Given the description of an element on the screen output the (x, y) to click on. 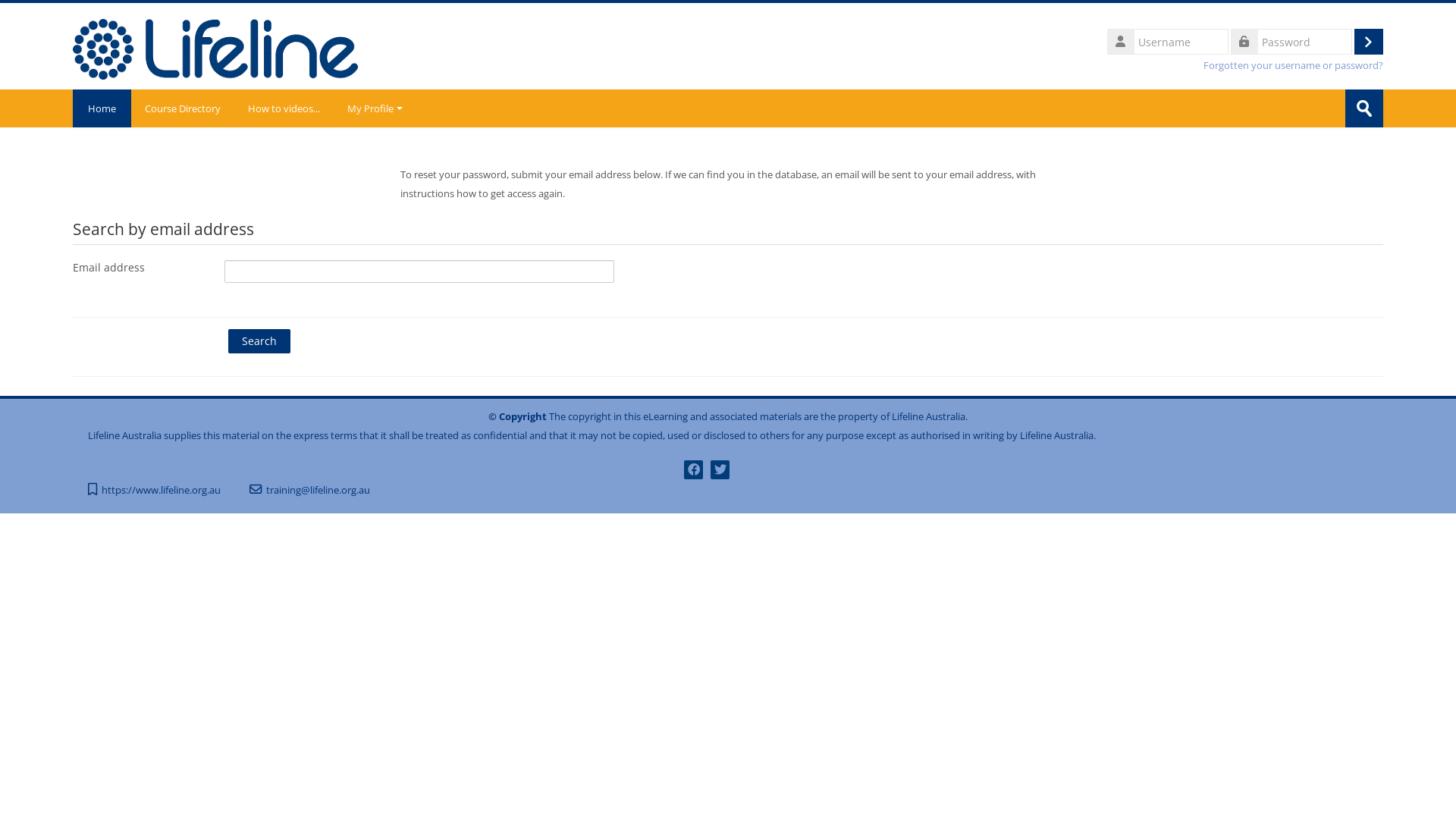
https://www.lifeline.org.au Element type: text (166, 489)
Search Element type: text (259, 341)
Home Element type: text (101, 108)
training@lifeline.org.au Element type: text (323, 489)
My Profile Element type: text (374, 108)
Forgotten your username or password? Element type: text (1293, 65)
How to videos... Element type: text (283, 108)
Log in Element type: text (1368, 41)
Home Element type: hover (214, 44)
Submit Element type: text (1364, 108)
Course Directory Element type: text (182, 108)
